Given the description of an element on the screen output the (x, y) to click on. 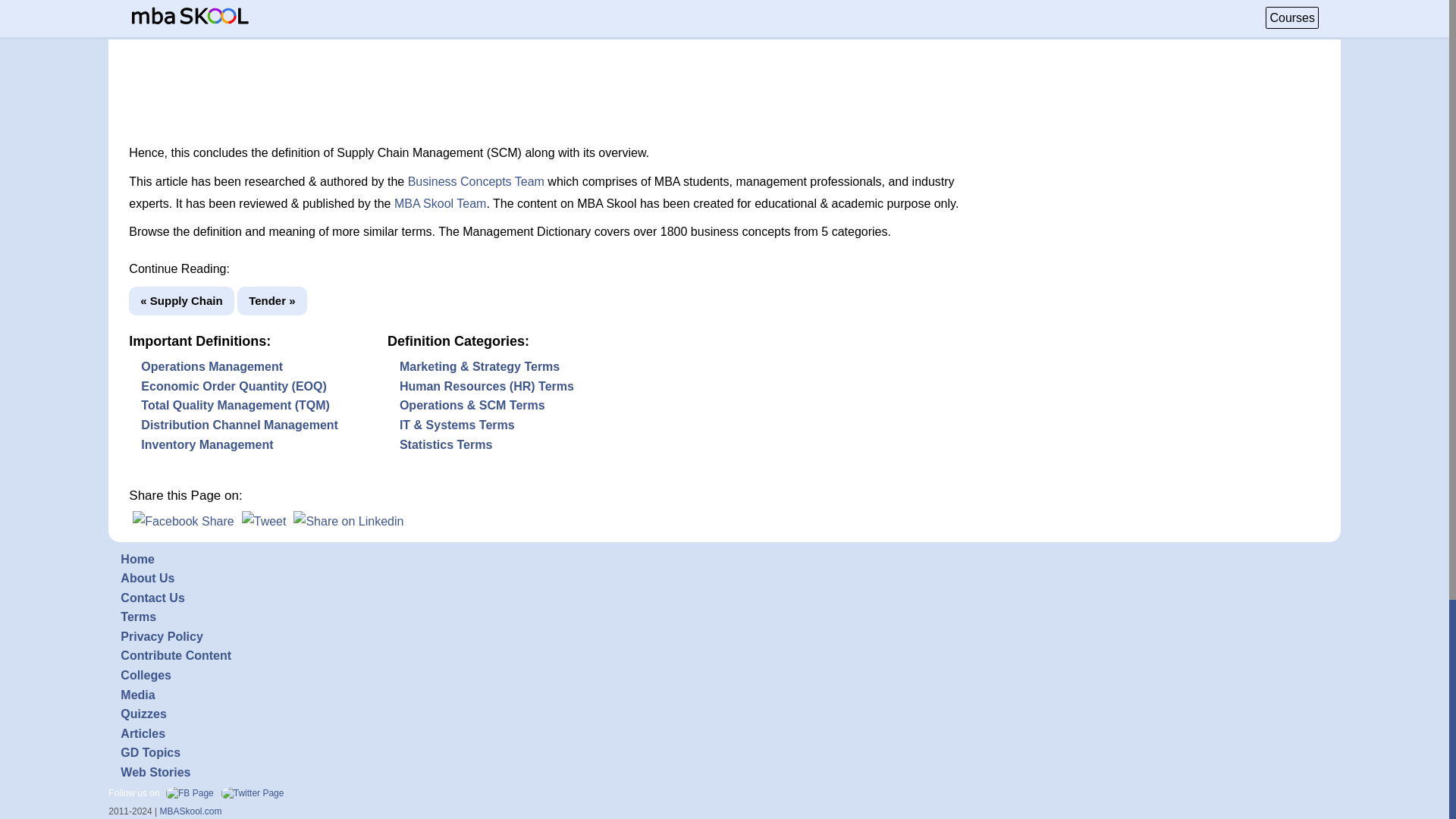
Facebook Share (182, 521)
Business Concepts Team (475, 181)
Supply Chain  (180, 301)
Tender (271, 301)
MBA Skool Team (440, 203)
Inventory Management (207, 444)
Tweet (263, 521)
Distribution Channel Management (239, 424)
Statistics Terms (445, 444)
Share on Linkedin (348, 521)
Operations Management (211, 366)
